Given the description of an element on the screen output the (x, y) to click on. 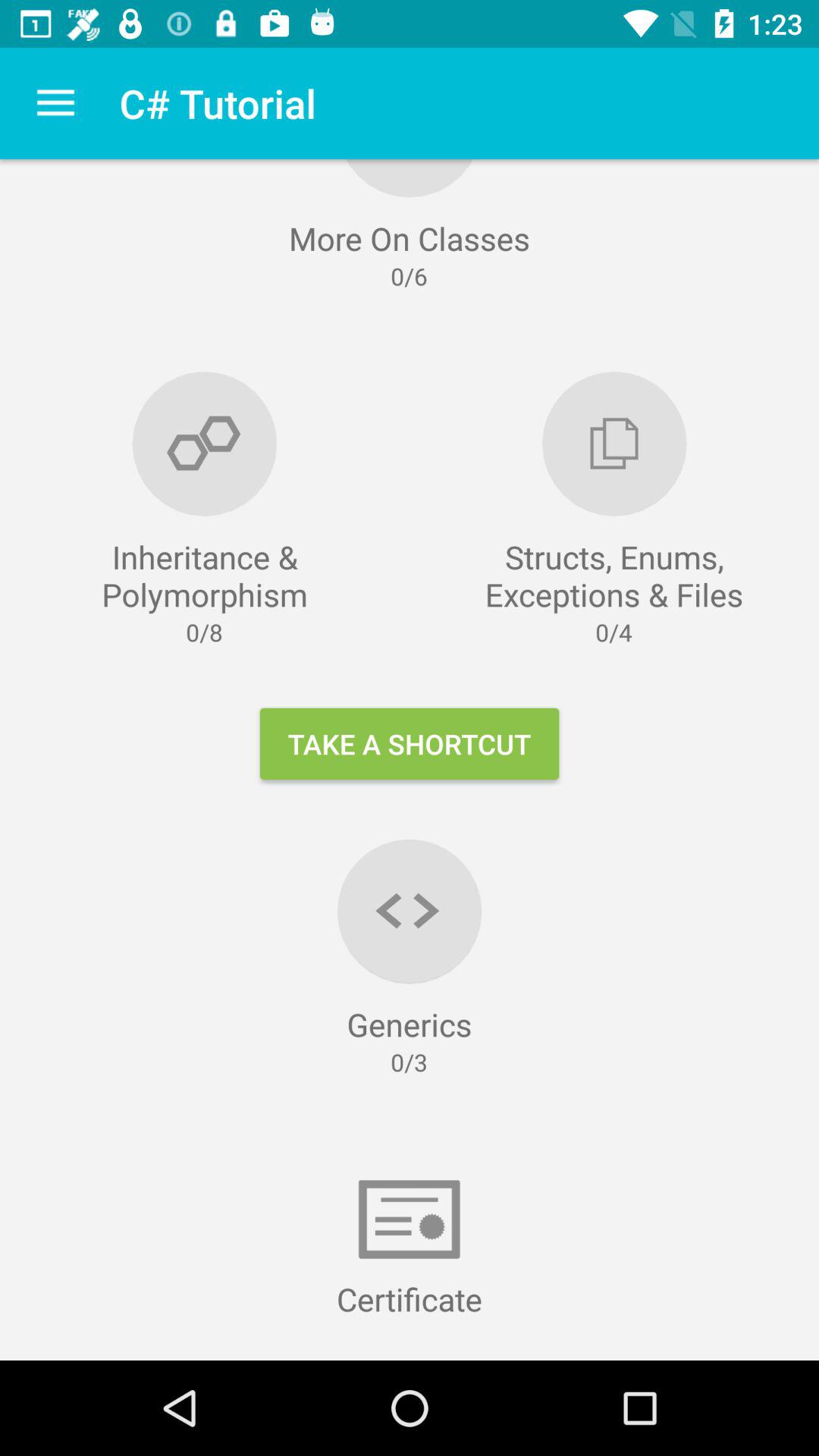
turn on the icon above the inheritance & polymorphism (55, 103)
